Given the description of an element on the screen output the (x, y) to click on. 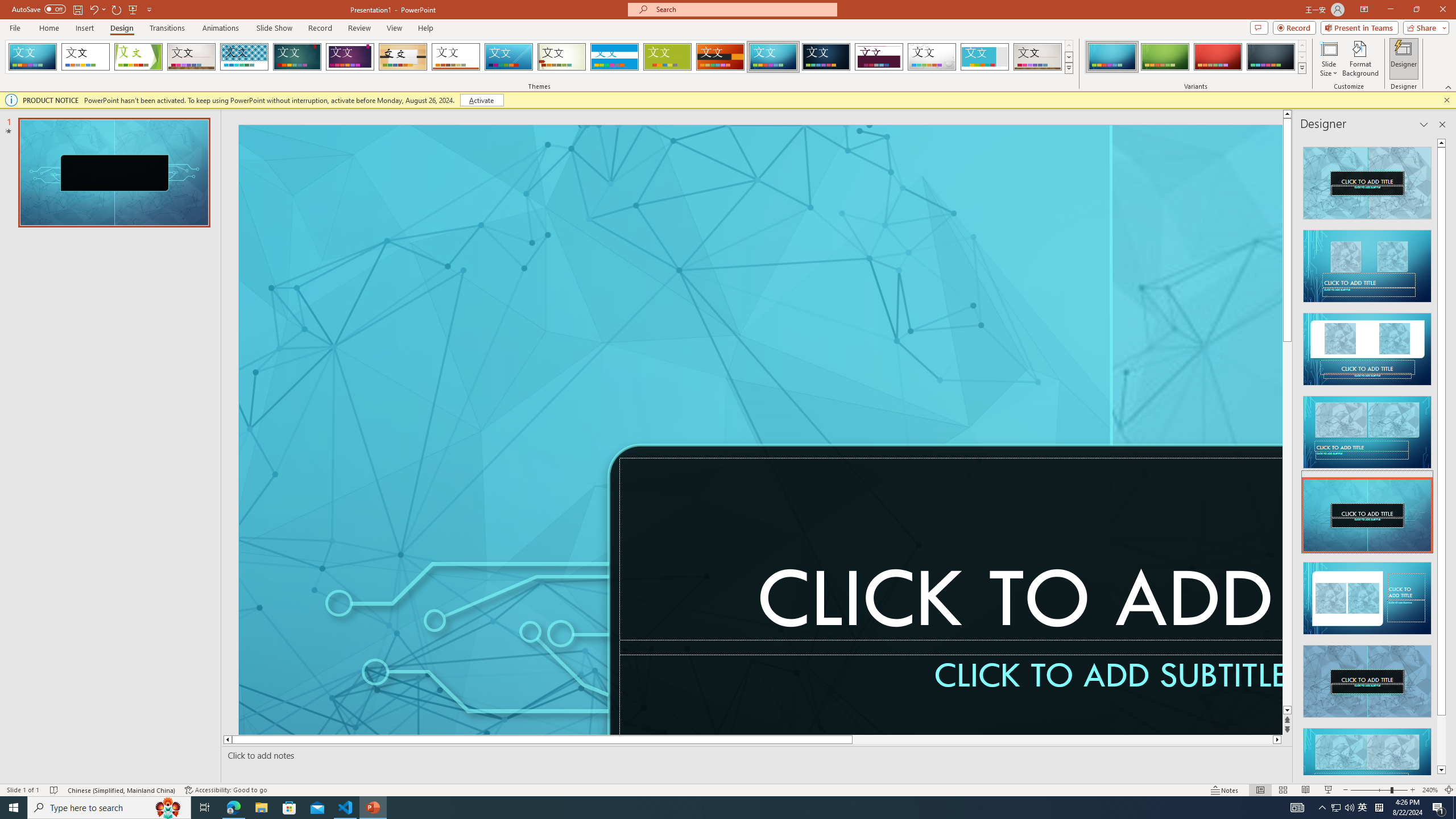
Basis (667, 56)
Accessibility Checker Accessibility: Good to go (226, 790)
Slide Size (1328, 58)
AutomationID: SlideThemesGallery (539, 56)
